Given the description of an element on the screen output the (x, y) to click on. 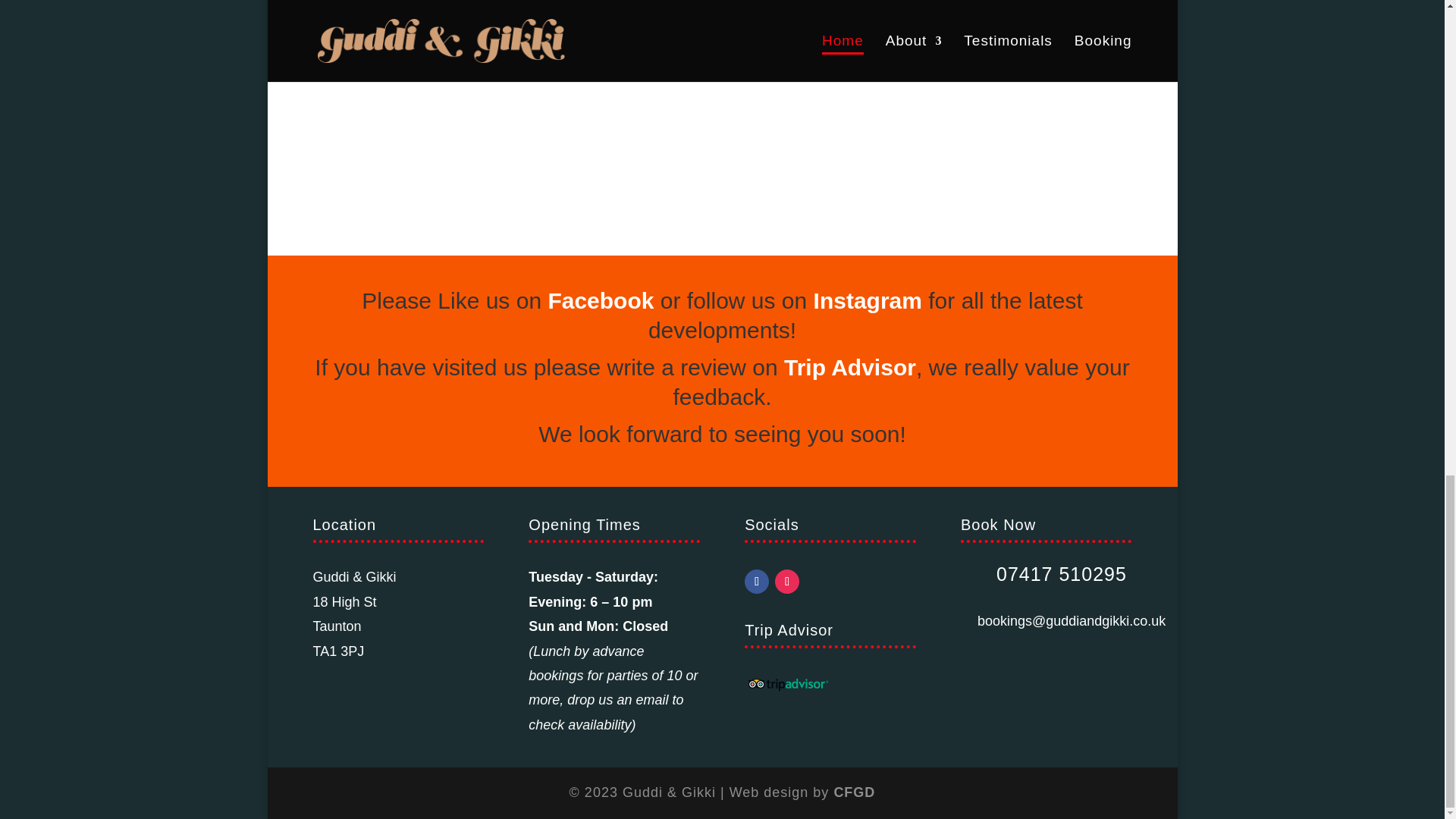
Follow on Instagram (786, 581)
Facebook (600, 300)
Instagram (867, 300)
Trip Advisor (849, 367)
CFGD (853, 792)
Follow on Facebook (756, 581)
